Given the description of an element on the screen output the (x, y) to click on. 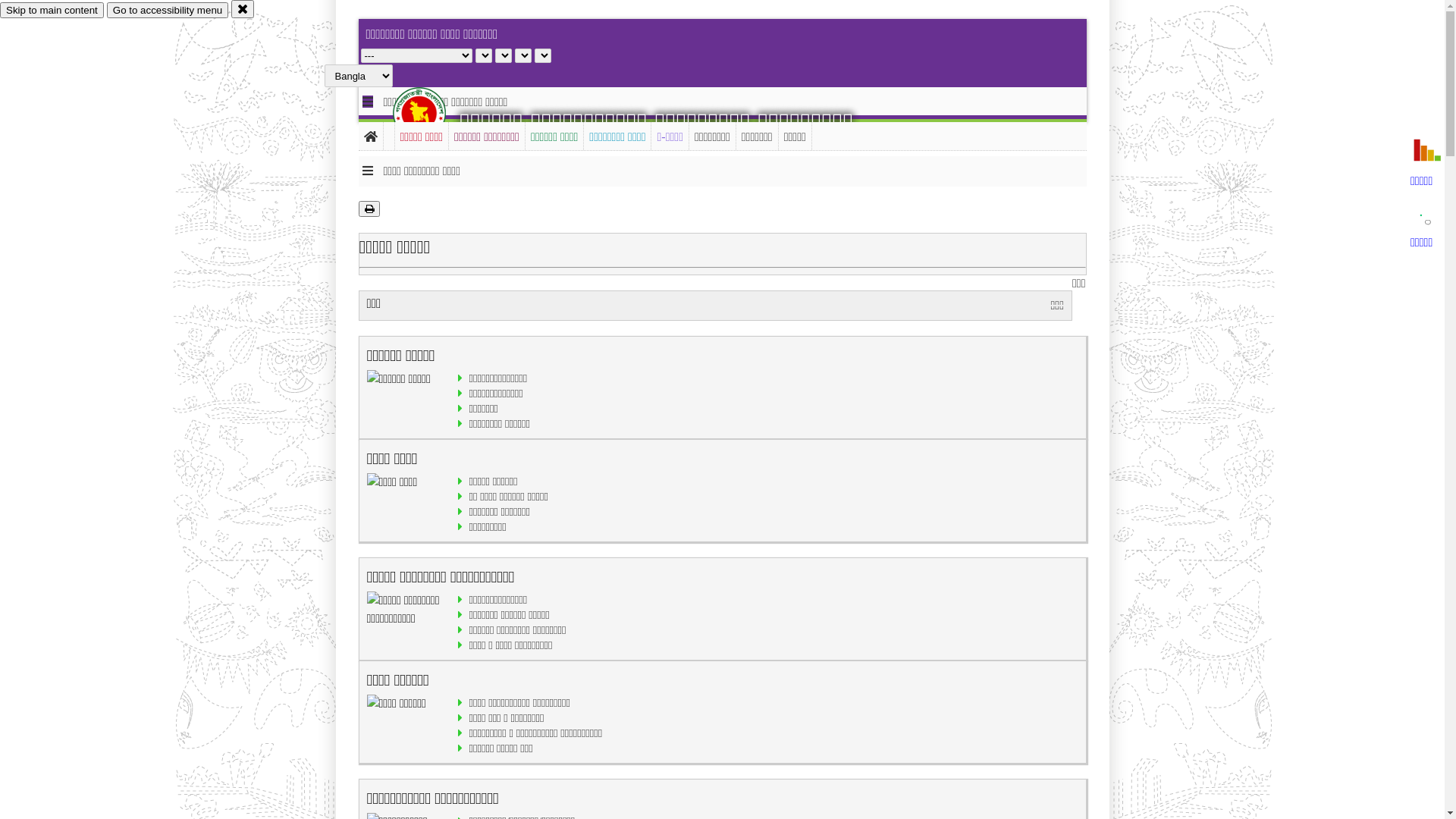
Skip to main content Element type: text (51, 10)

                
             Element type: hover (431, 112)
close Element type: hover (242, 9)
Go to accessibility menu Element type: text (167, 10)
